Given the description of an element on the screen output the (x, y) to click on. 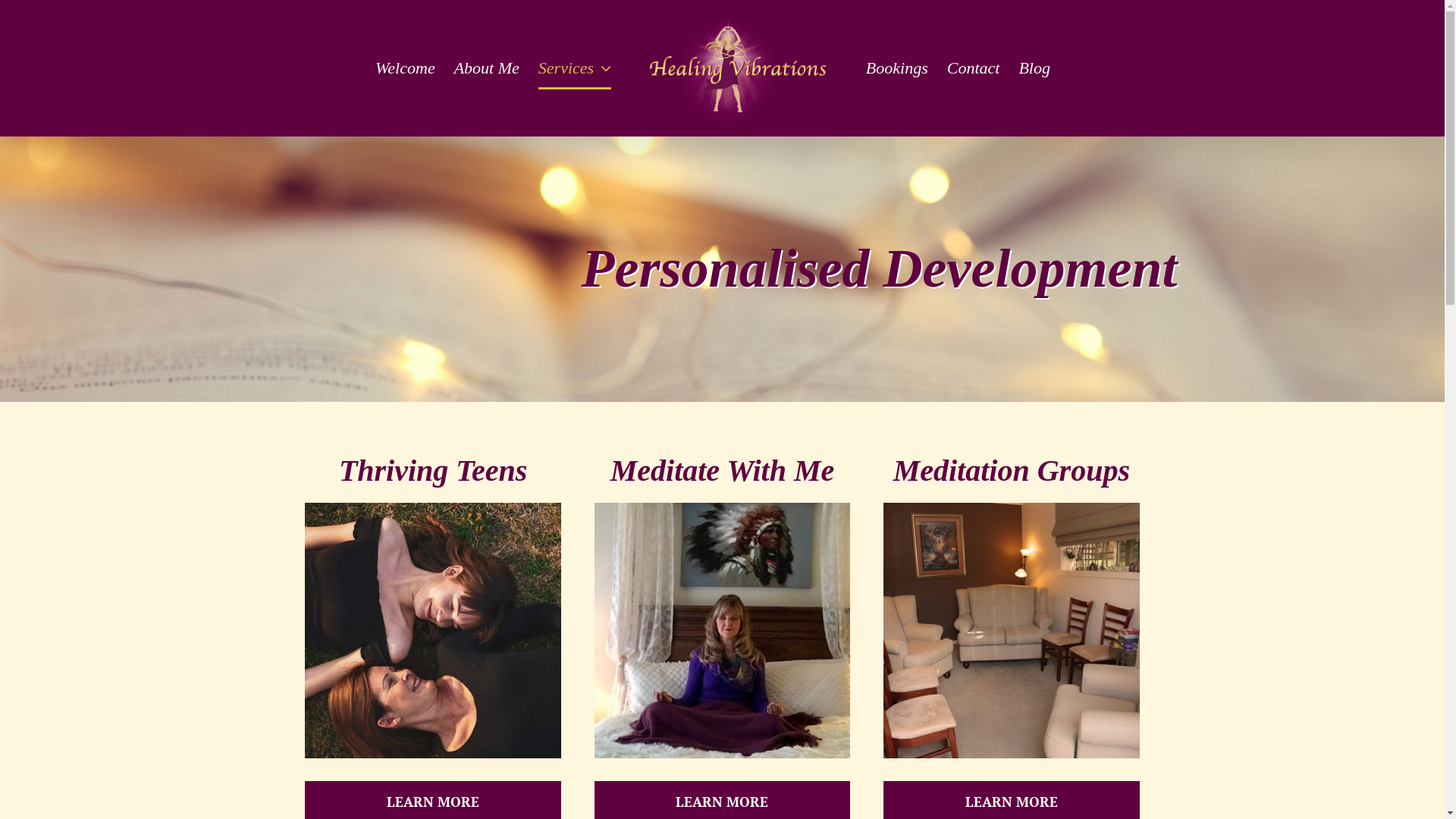
Services Element type: text (574, 68)
Contact Element type: text (973, 68)
About Me Element type: text (486, 68)
Blog Element type: text (1034, 68)
Bookings Element type: text (897, 68)
Welcome Element type: text (405, 68)
